Given the description of an element on the screen output the (x, y) to click on. 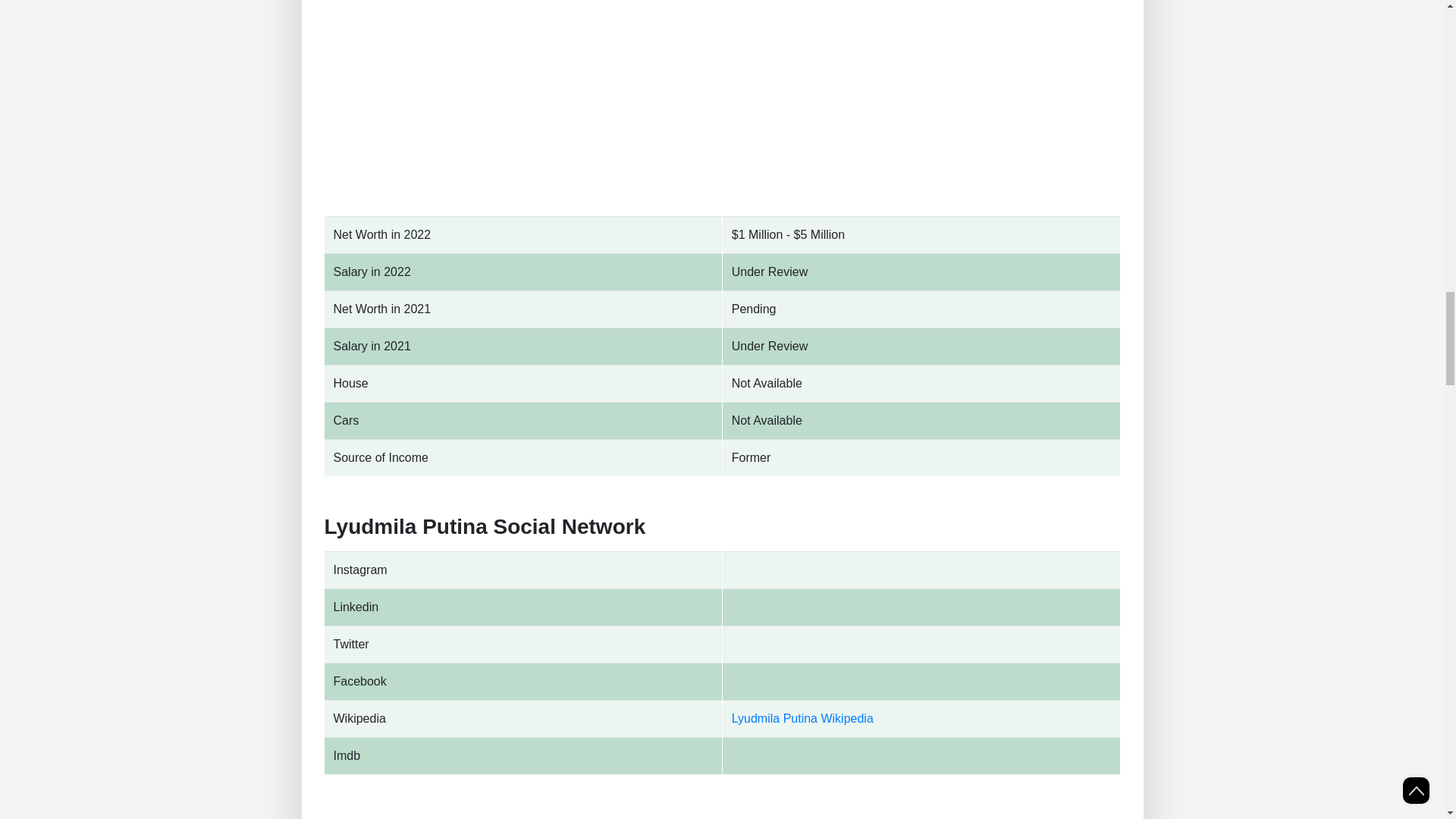
Lyudmila Putina Wikipedia (802, 717)
